Given the description of an element on the screen output the (x, y) to click on. 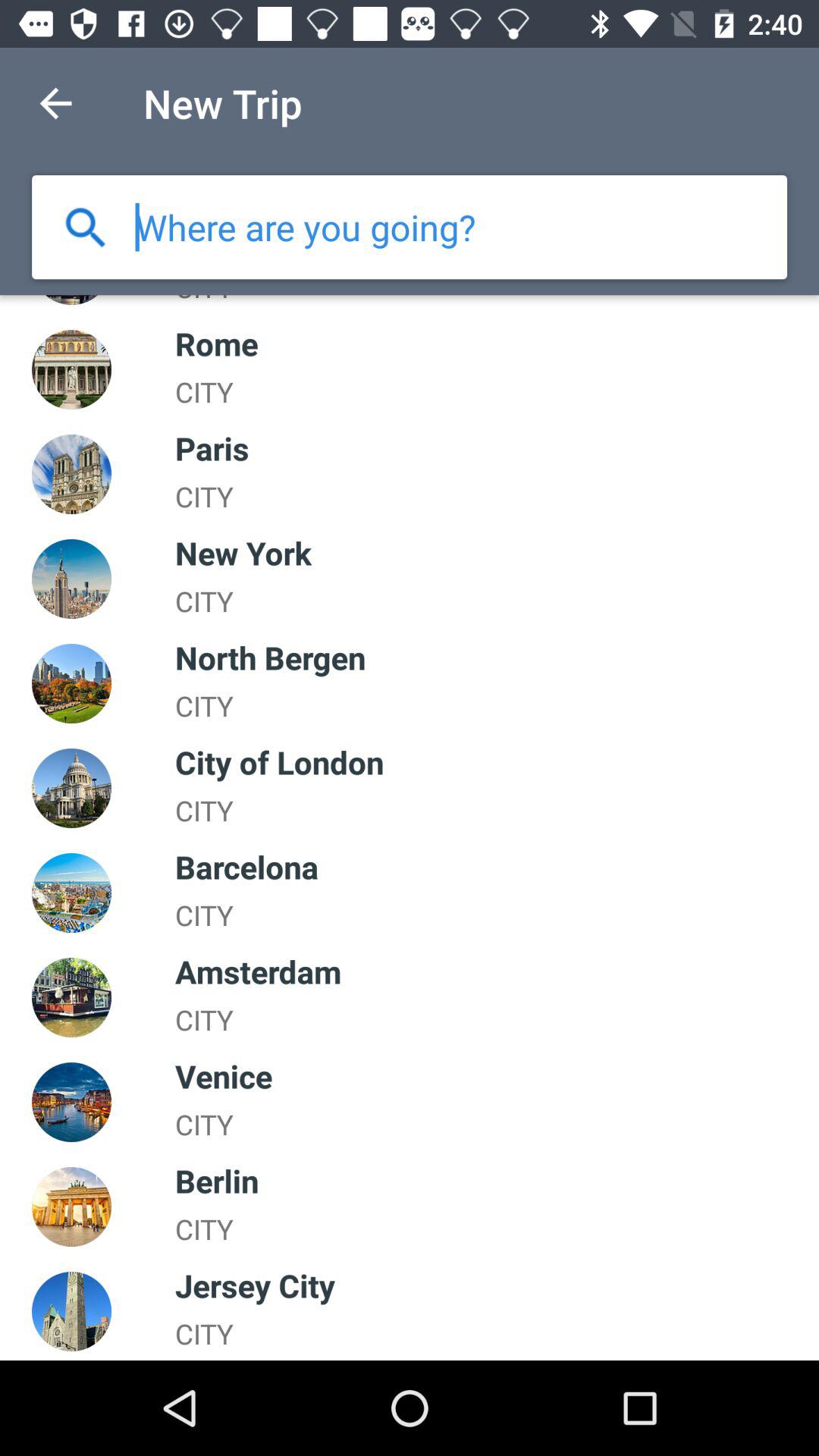
click on the berlins image (71, 1206)
tap the north bergens image (71, 683)
